Given the description of an element on the screen output the (x, y) to click on. 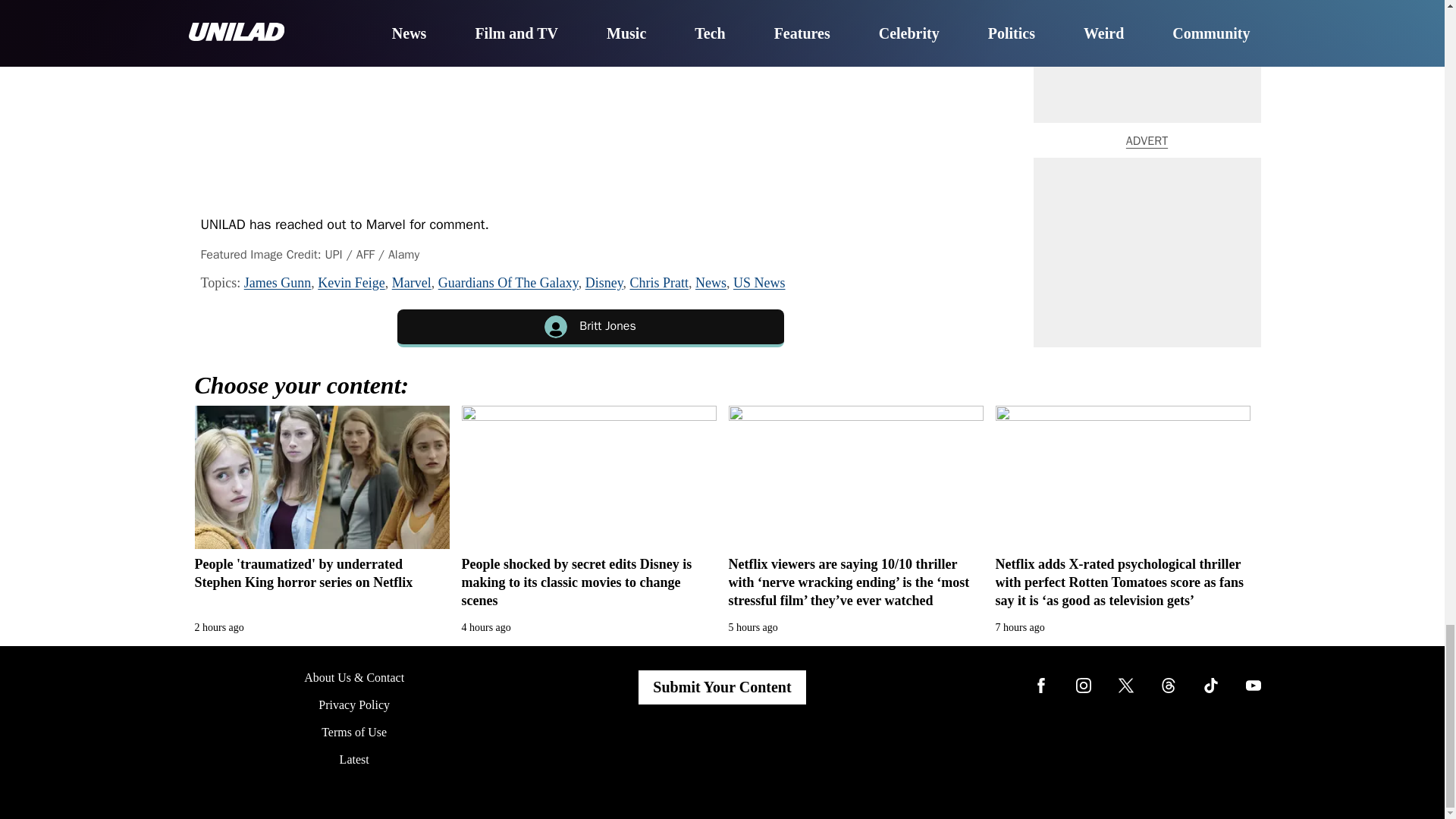
Kevin Feige (350, 282)
Marvel (410, 282)
US News (759, 282)
Disney (604, 282)
James Gunn (277, 282)
Guardians Of The Galaxy (508, 282)
News (710, 282)
Chris Pratt (658, 282)
